Given the description of an element on the screen output the (x, y) to click on. 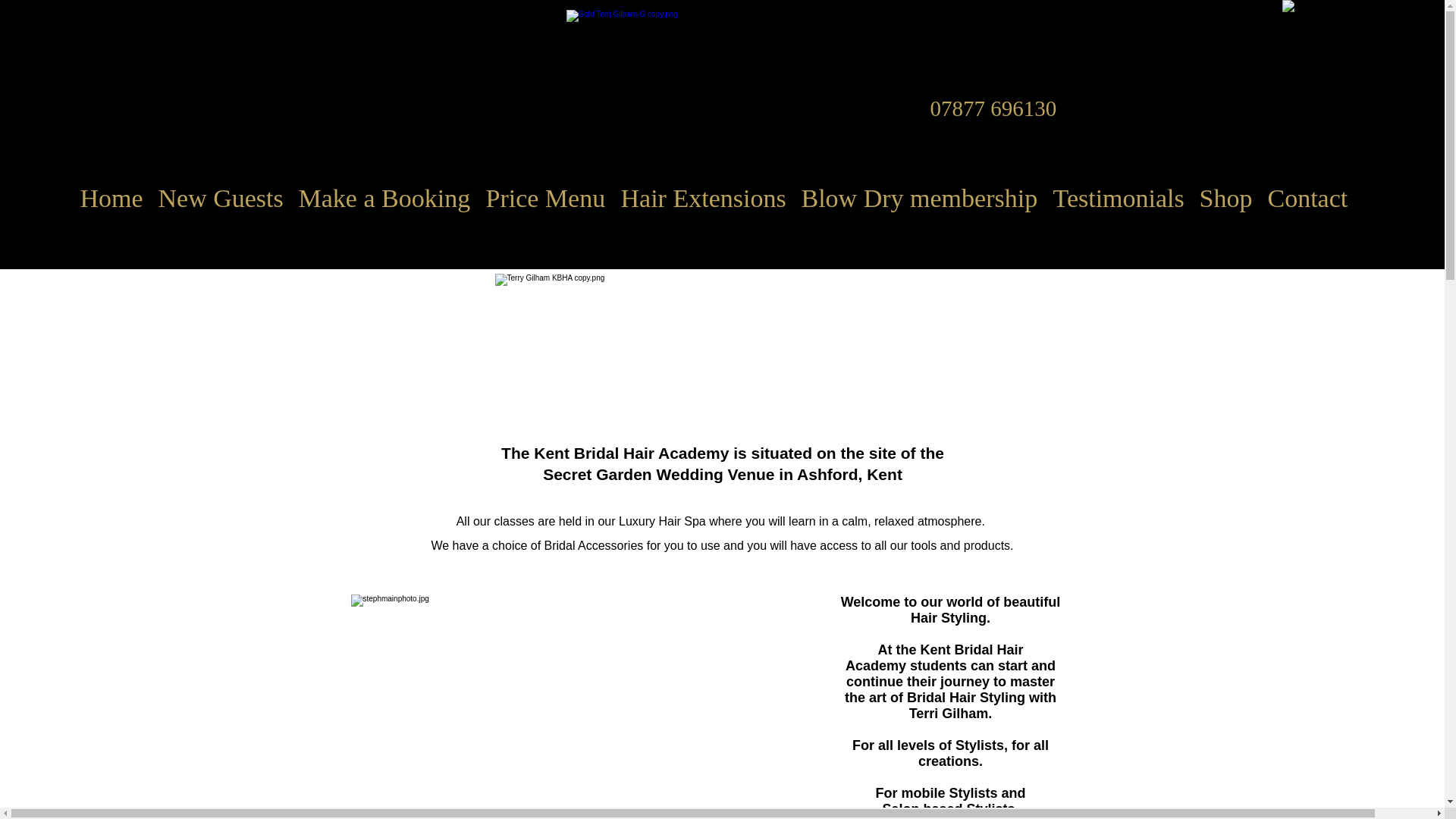
Contact (1205, 198)
Make a Booking (310, 198)
Home (39, 198)
Blow Dry membership (827, 198)
Shop (1127, 198)
Testimonials (1022, 198)
Hair Extensions (617, 198)
Meet the Team (1337, 198)
Price Menu (465, 198)
New Guests (148, 198)
